Given the description of an element on the screen output the (x, y) to click on. 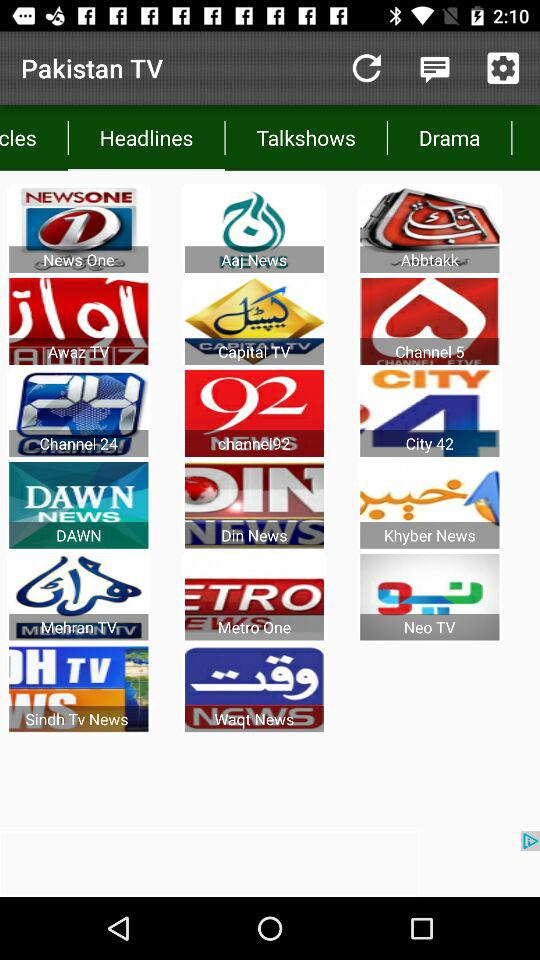
launch icon to the left of the morningshows icon (449, 137)
